Given the description of an element on the screen output the (x, y) to click on. 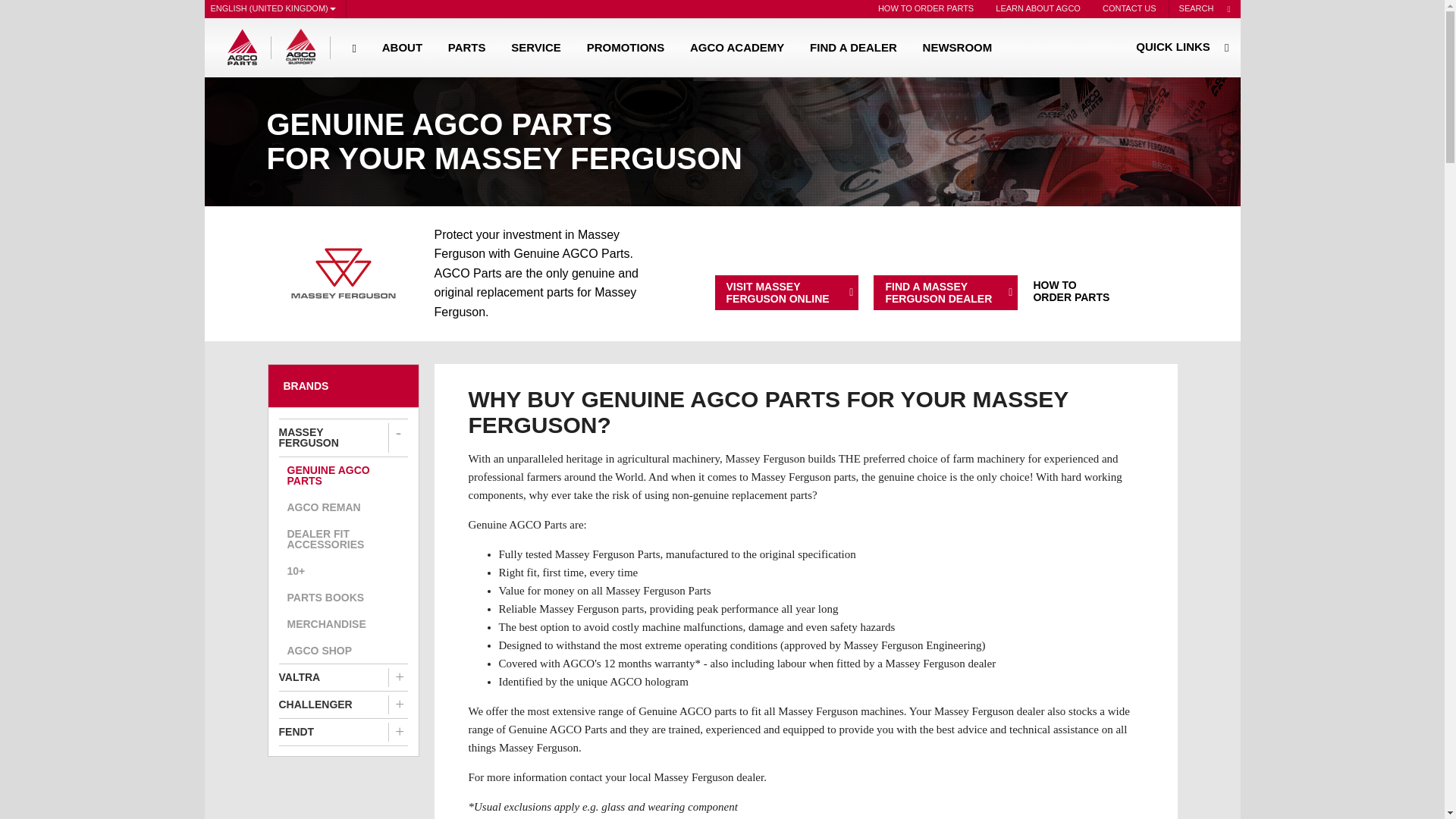
SEARCH (1204, 9)
HOW TO ORDER PARTS (925, 9)
ABOUT (402, 47)
CONTACT US (1128, 9)
LEARN ABOUT AGCO (1038, 9)
PARTS (466, 47)
